Given the description of an element on the screen output the (x, y) to click on. 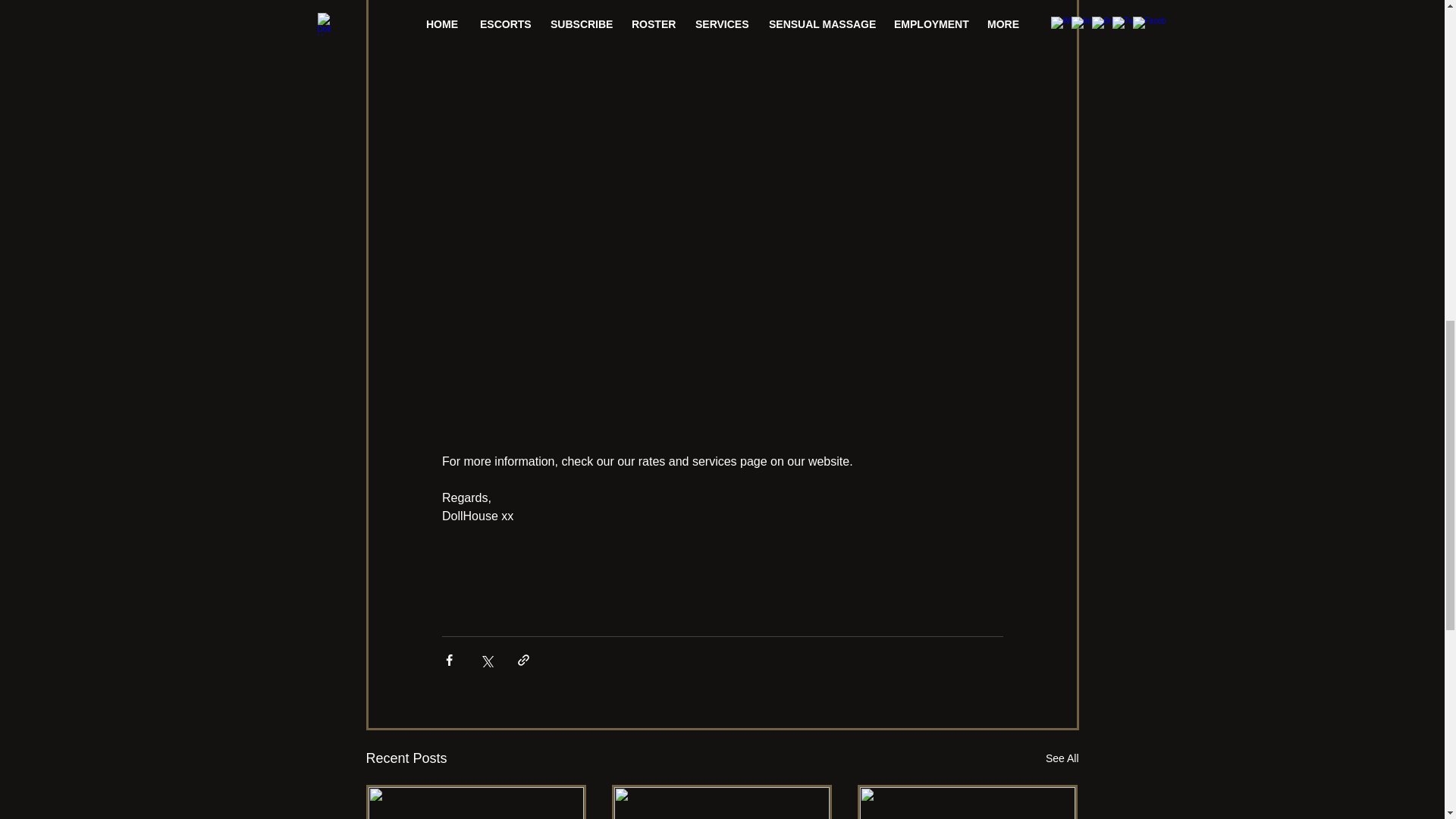
See All (1061, 758)
